Given the description of an element on the screen output the (x, y) to click on. 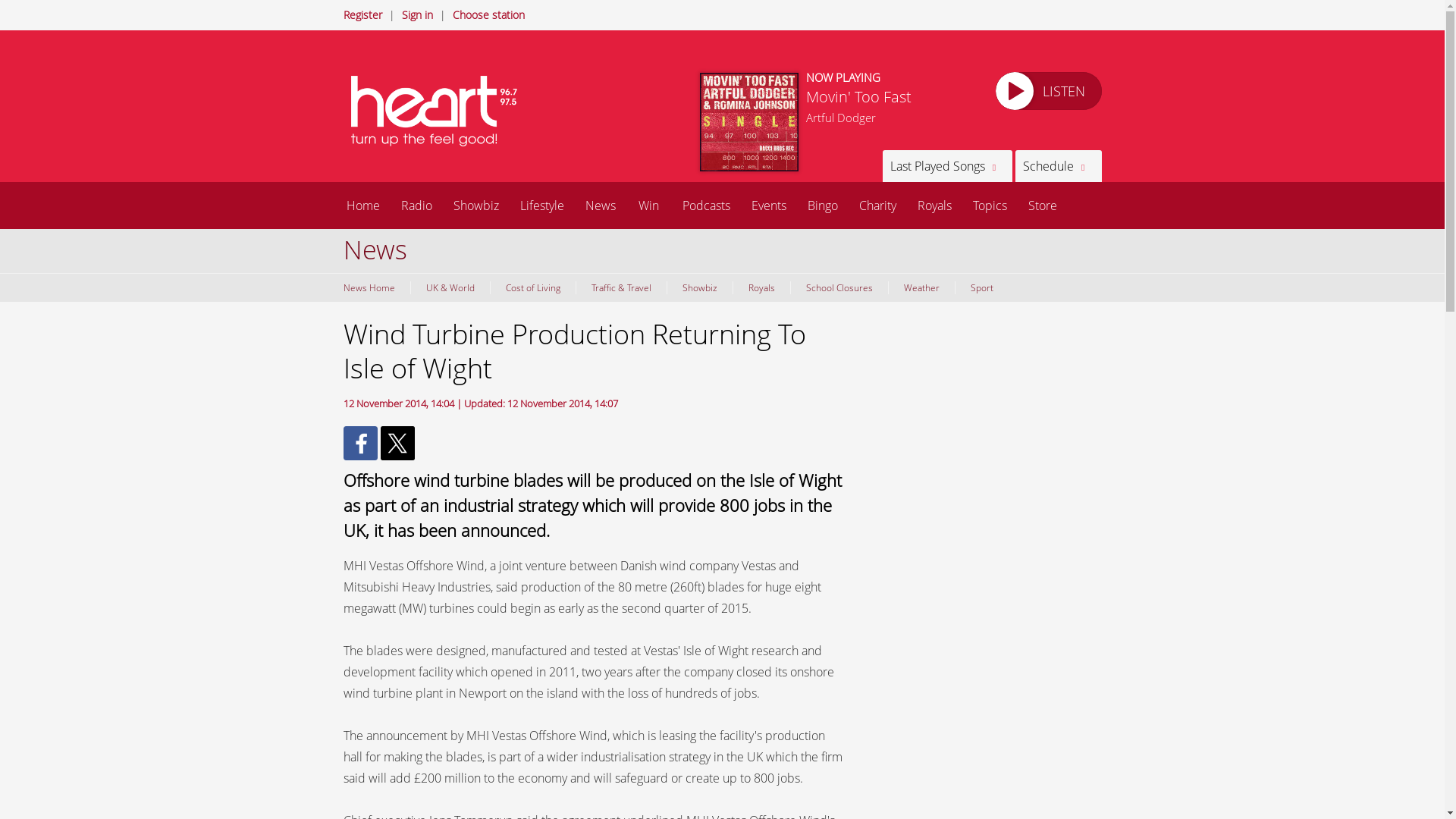
Sign in (416, 14)
Bingo (821, 205)
Radio (416, 205)
Cost of Living (532, 287)
News (600, 205)
School Closures (839, 287)
Topics (988, 205)
Royals (934, 205)
LISTEN (1047, 90)
Store (1042, 205)
Charity (876, 205)
Podcasts (706, 205)
Heart Hampshire (441, 111)
News Home (371, 287)
